Given the description of an element on the screen output the (x, y) to click on. 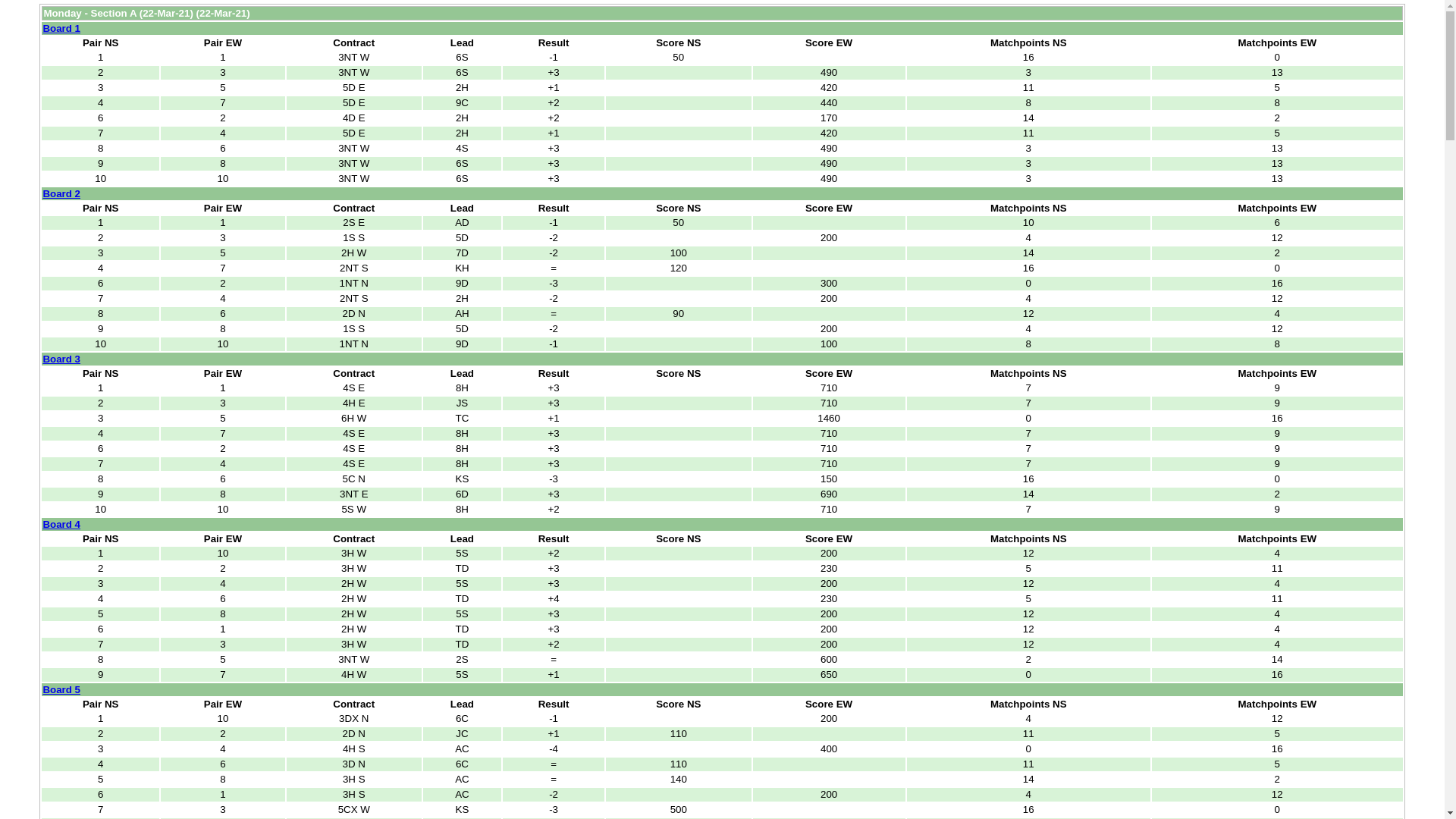
Board 3 Element type: text (61, 358)
Board 4 Element type: text (61, 524)
Board 1 Element type: text (61, 28)
Board 2 Element type: text (61, 193)
Board 5 Element type: text (61, 689)
